Given the description of an element on the screen output the (x, y) to click on. 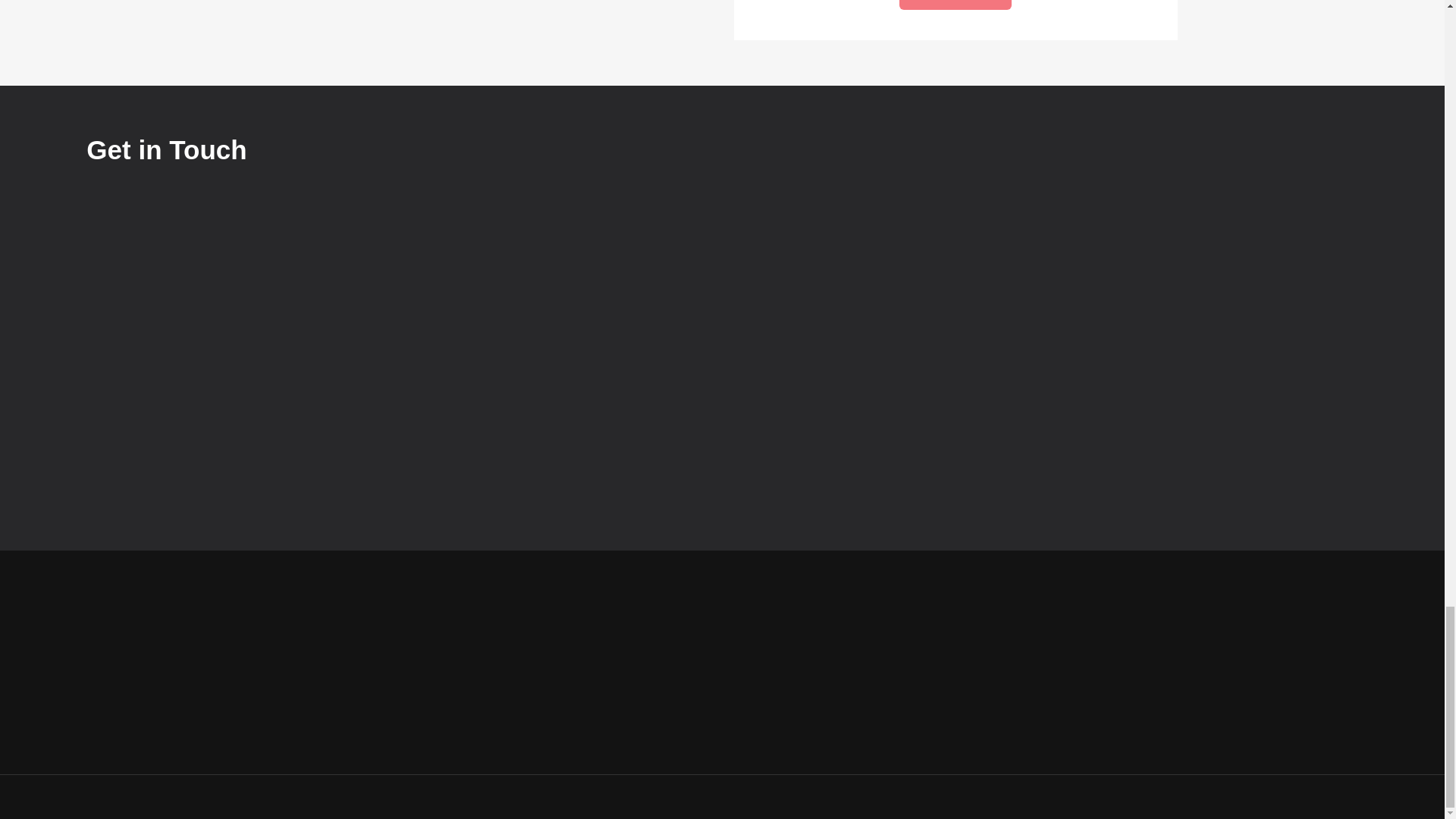
Go to Step 2 (954, 4)
